Given the description of an element on the screen output the (x, y) to click on. 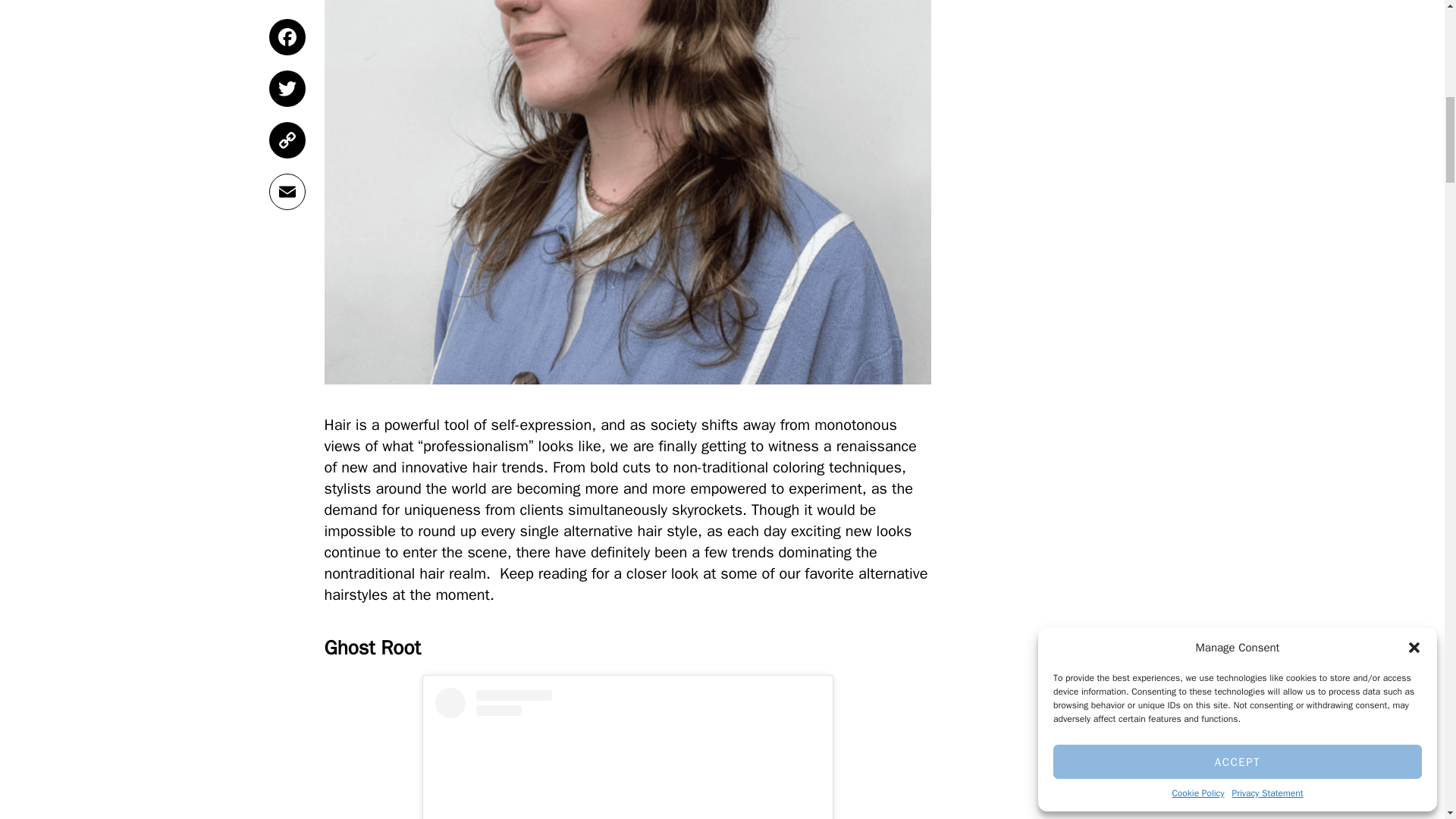
View this post on Instagram (628, 753)
